Given the description of an element on the screen output the (x, y) to click on. 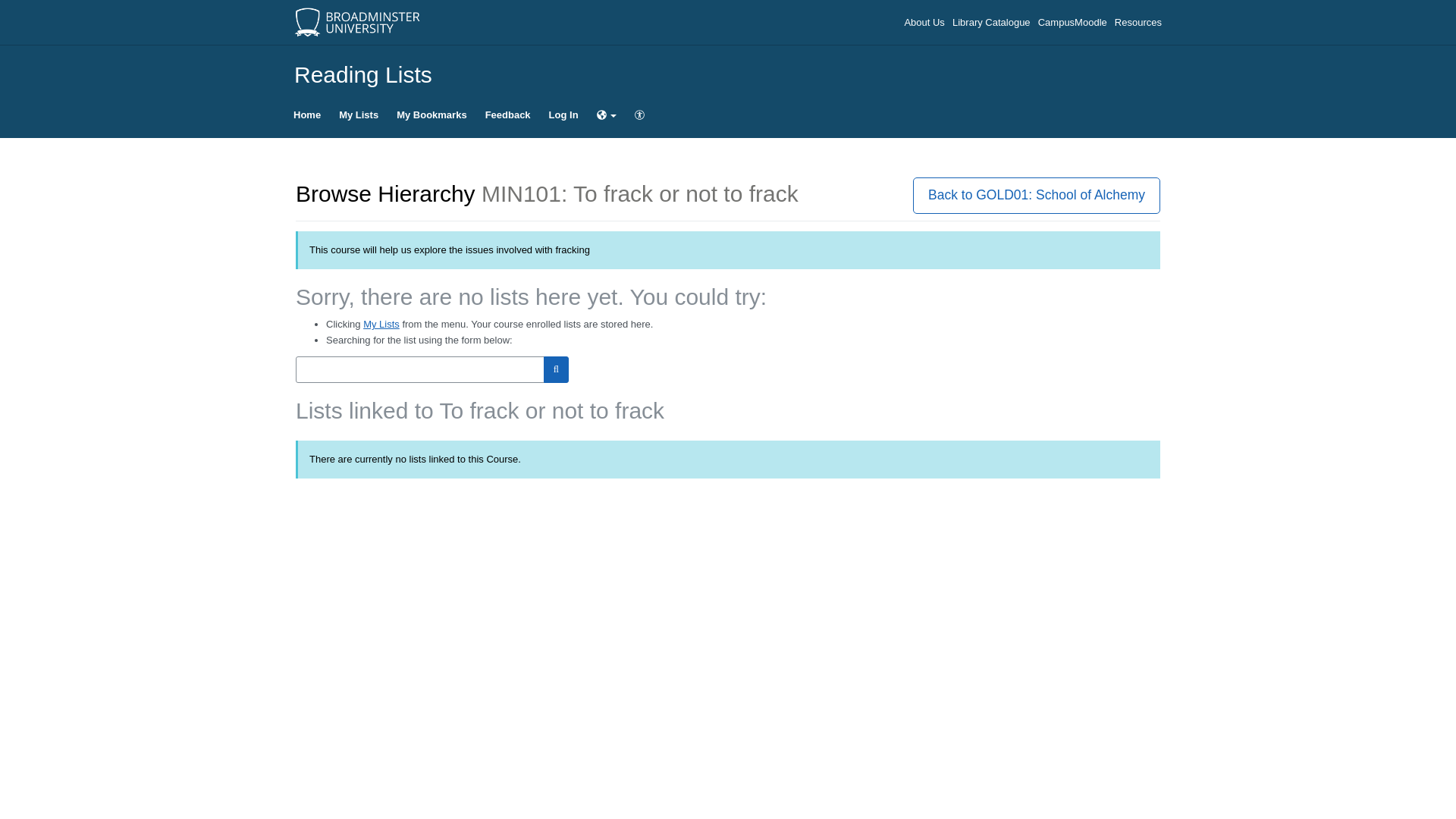
Resources (1138, 21)
My Lists (358, 115)
My Lists (380, 324)
Log In (564, 115)
Search (556, 369)
About Us (925, 21)
Back to GOLD01: School of Alchemy (1036, 194)
Feedback (508, 115)
My Bookmarks (431, 115)
Home (306, 115)
CampusMoodle (1073, 21)
Library Catalogue (992, 21)
